Given the description of an element on the screen output the (x, y) to click on. 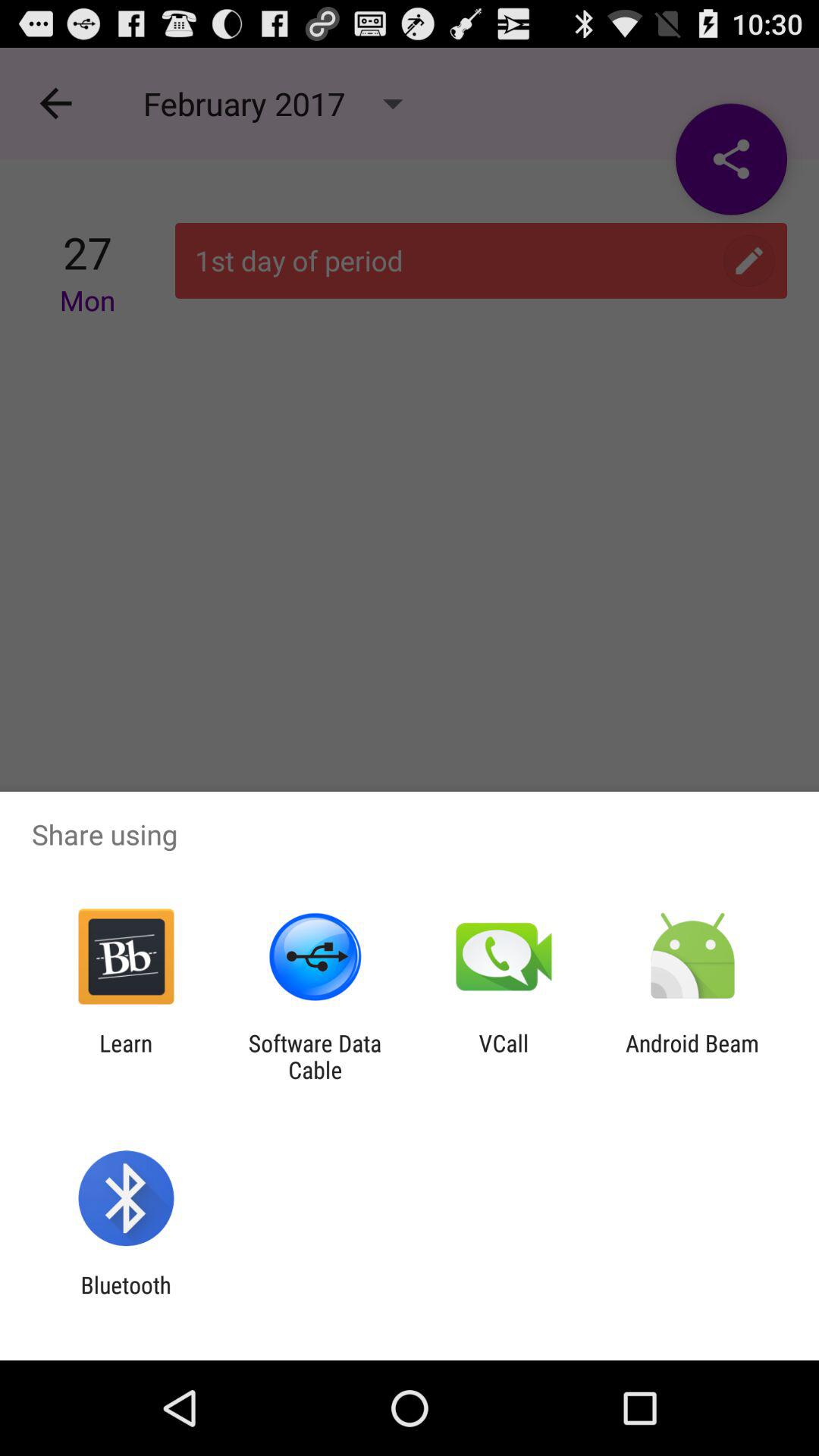
launch item at the bottom right corner (692, 1056)
